Given the description of an element on the screen output the (x, y) to click on. 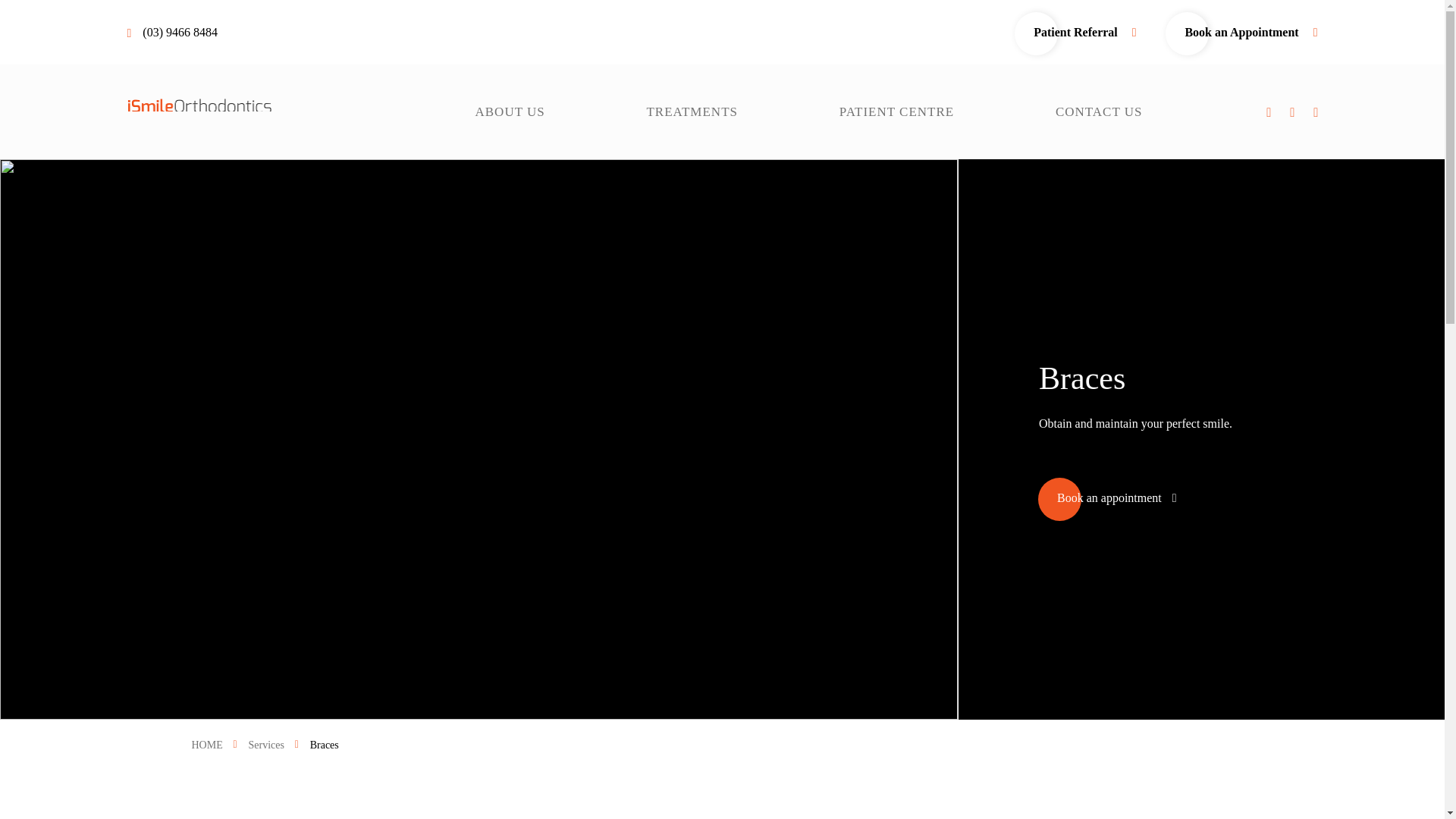
Book an Appointment (1251, 31)
TREATMENTS (692, 111)
PATIENT CENTRE (896, 111)
CONTACT US (1098, 111)
Patient Referral (1084, 31)
